Given the description of an element on the screen output the (x, y) to click on. 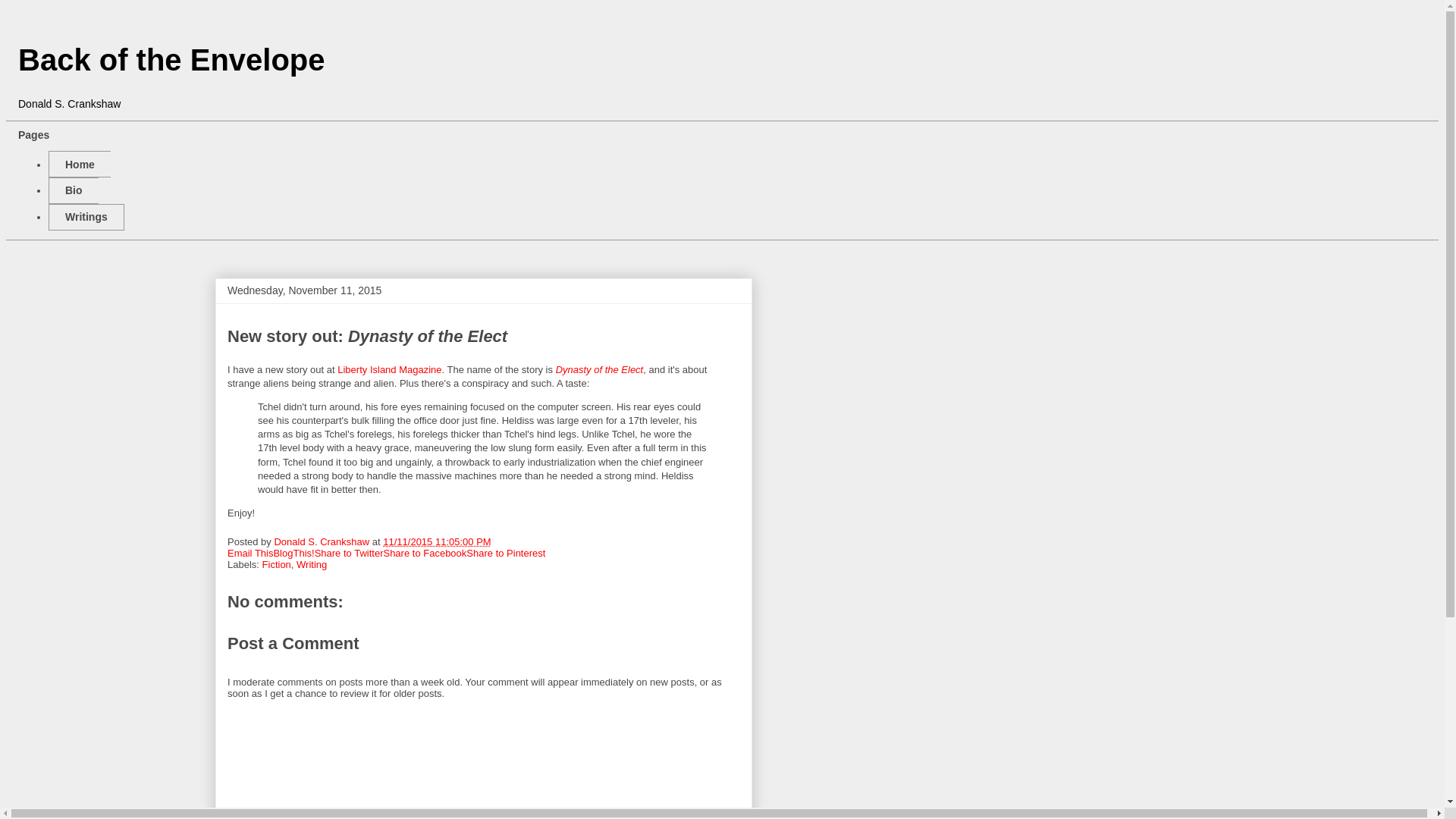
Liberty Island Magazine (389, 369)
Writings (85, 216)
Home (79, 163)
Donald S. Crankshaw (322, 541)
Fiction (276, 564)
Share to Facebook (423, 552)
Dynasty of the Elect (599, 369)
Share to Pinterest (504, 552)
Share to Twitter (349, 552)
BlogThis! (293, 552)
Share to Facebook (423, 552)
author profile (322, 541)
Writing (311, 564)
Share to Pinterest (504, 552)
Back of the Envelope (170, 59)
